Given the description of an element on the screen output the (x, y) to click on. 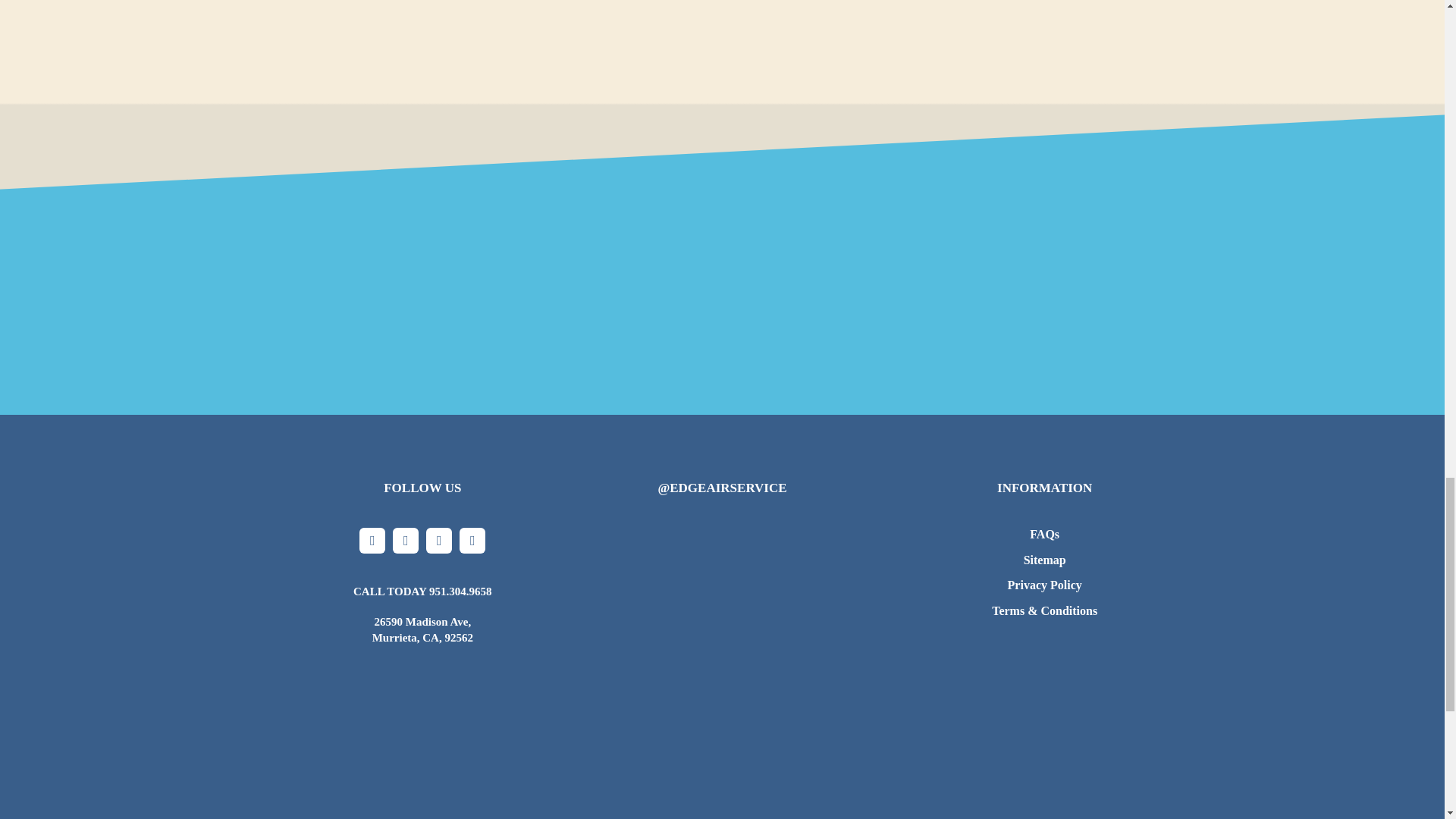
Instagram (438, 540)
X (406, 540)
Facebook (372, 540)
LinkedIn (472, 540)
